Given the description of an element on the screen output the (x, y) to click on. 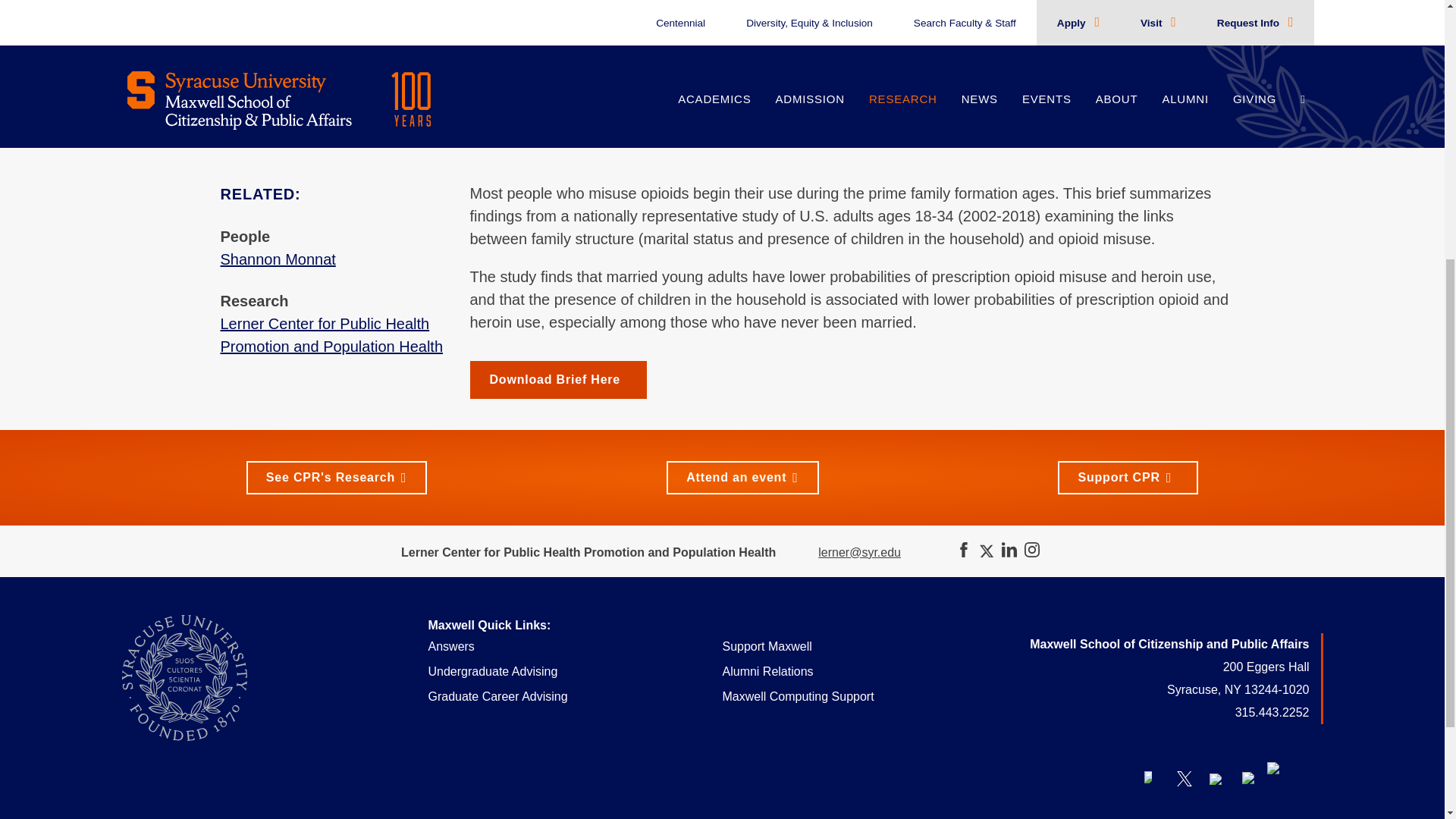
su-seal (183, 678)
linkedin (1283, 778)
youtube (1216, 778)
